Given the description of an element on the screen output the (x, y) to click on. 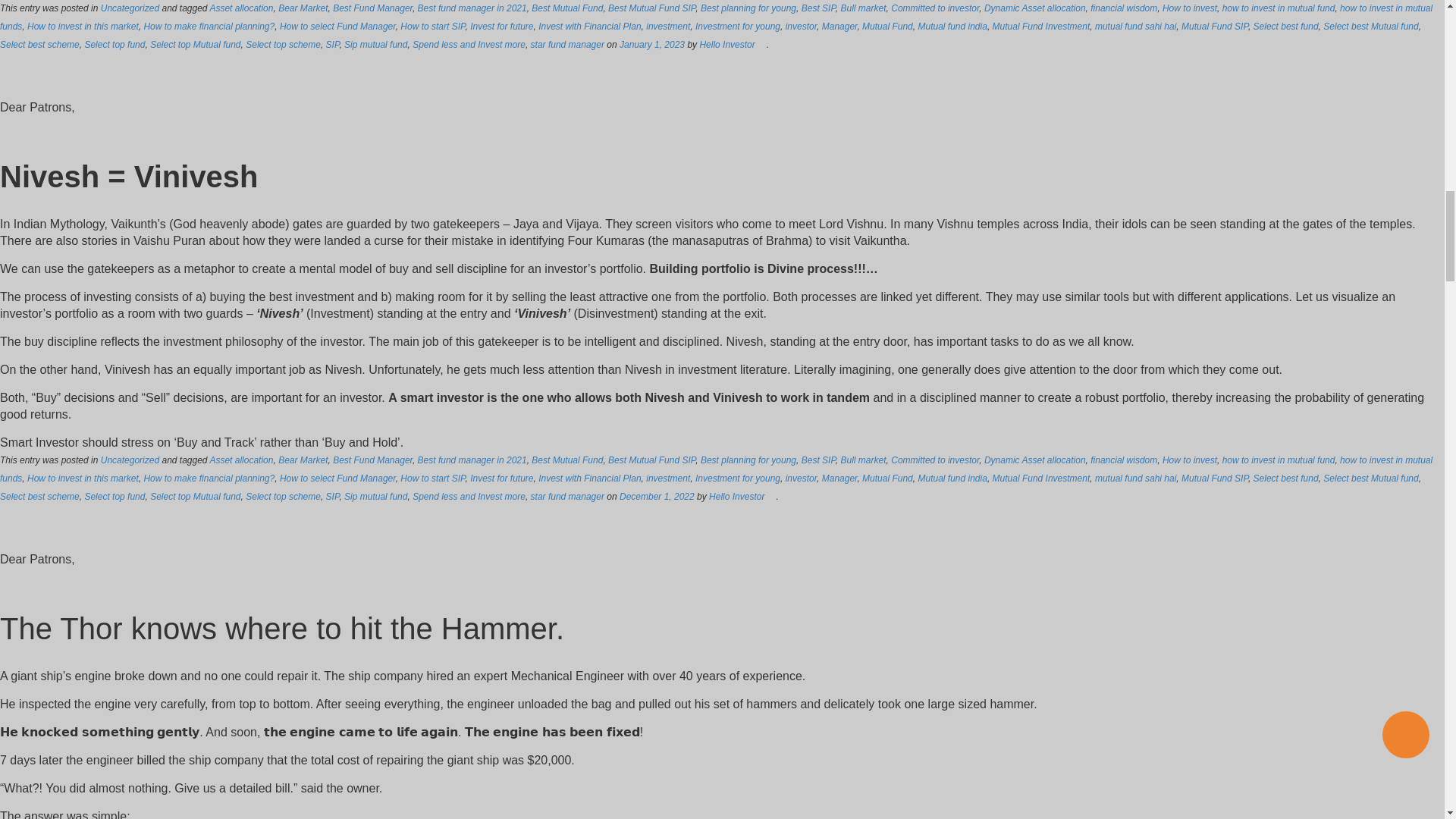
8:00 am (652, 44)
7:58 am (657, 496)
View all posts by Hello Investor (726, 44)
View all posts by Hello Investor (736, 496)
